Given the description of an element on the screen output the (x, y) to click on. 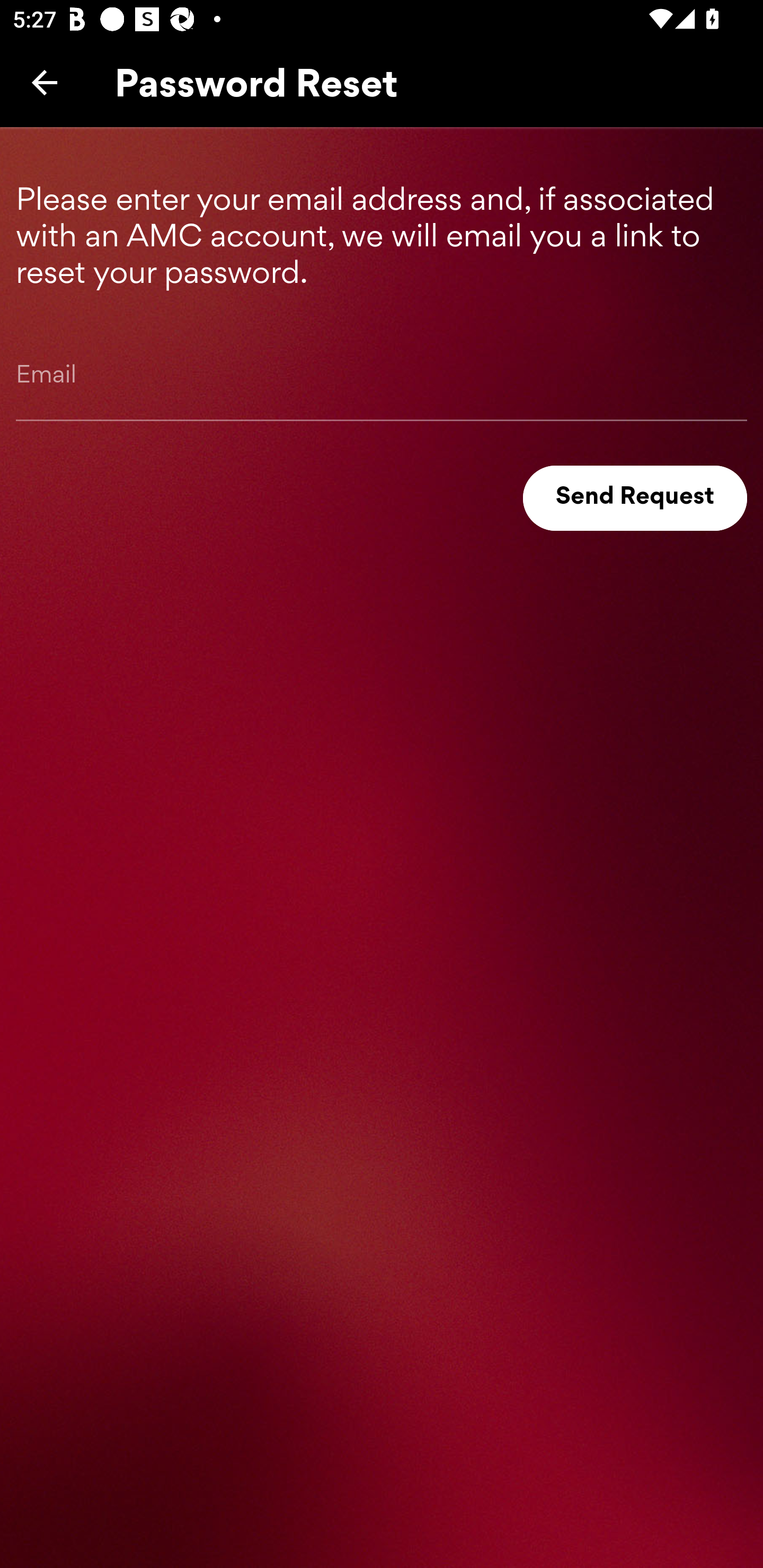
Back (44, 82)
Send Request (634, 498)
